Given the description of an element on the screen output the (x, y) to click on. 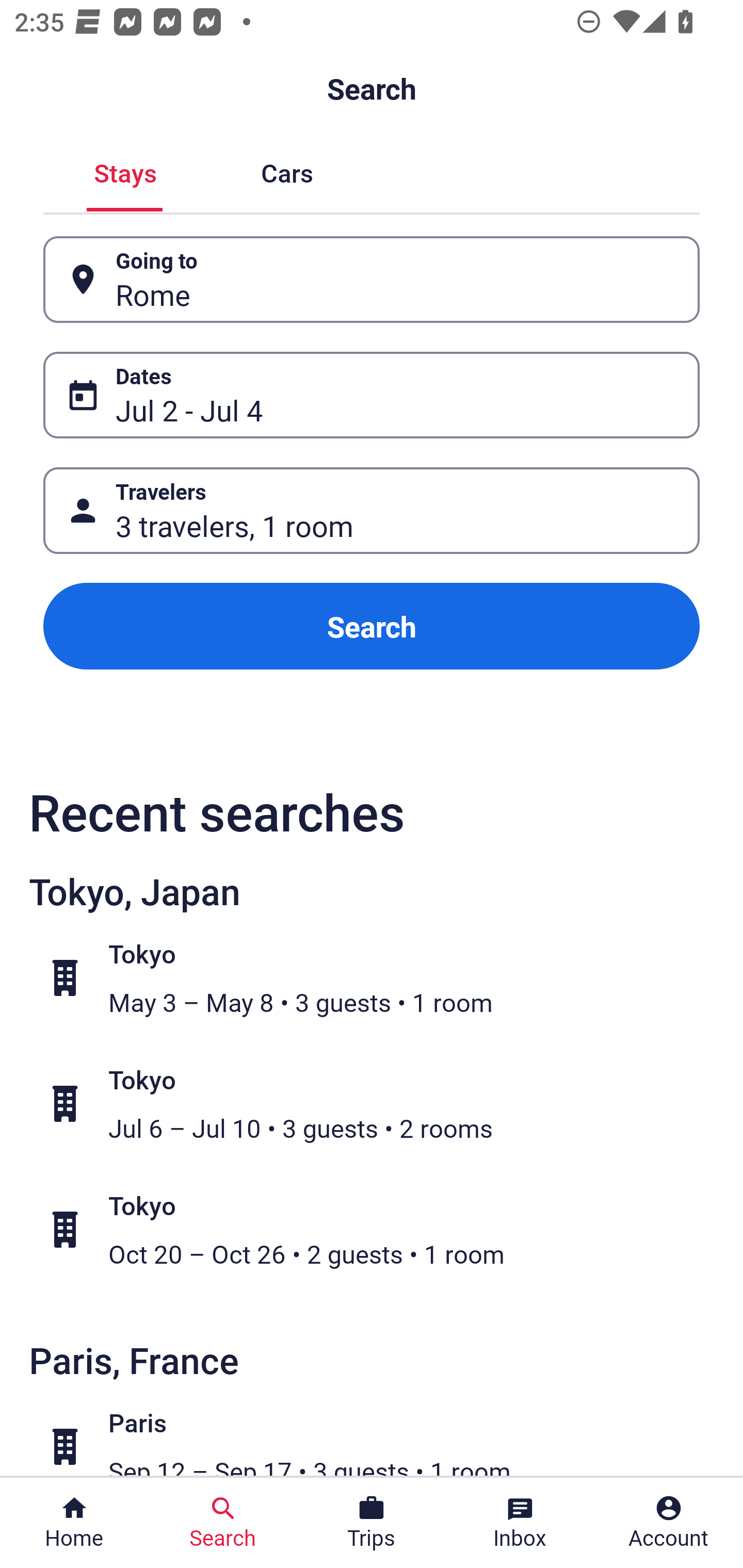
Cars (286, 171)
Going to Button Rome (371, 279)
Dates Button Jul 2 - Jul 4 (371, 395)
Travelers Button 3 travelers, 1 room (371, 510)
Search (371, 626)
Tokyo May 3 – May 8 • 3 guests • 1 room (382, 978)
Tokyo Jul 6 – Jul 10 • 3 guests • 2 rooms (382, 1103)
Tokyo Oct 20 – Oct 26 • 2 guests • 1 room (382, 1229)
Home Home Button (74, 1522)
Trips Trips Button (371, 1522)
Inbox Inbox Button (519, 1522)
Account Profile. Button (668, 1522)
